Given the description of an element on the screen output the (x, y) to click on. 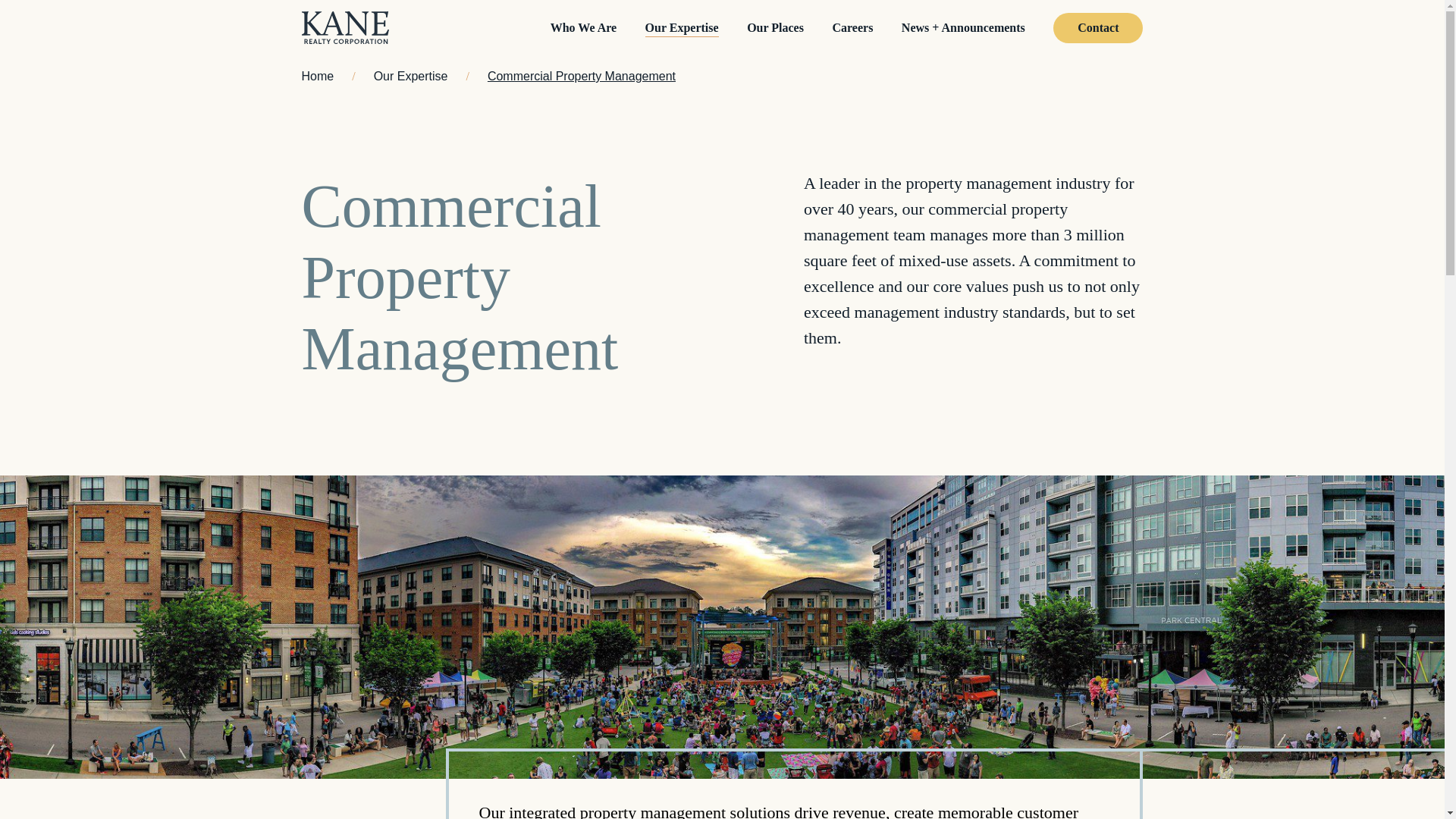
Who We Are (582, 27)
Our Places (774, 27)
Home (317, 75)
Careers (851, 27)
Our Expertise (682, 27)
Commercial Property Management (581, 75)
Our Expertise (411, 75)
Contact (1097, 27)
